Given the description of an element on the screen output the (x, y) to click on. 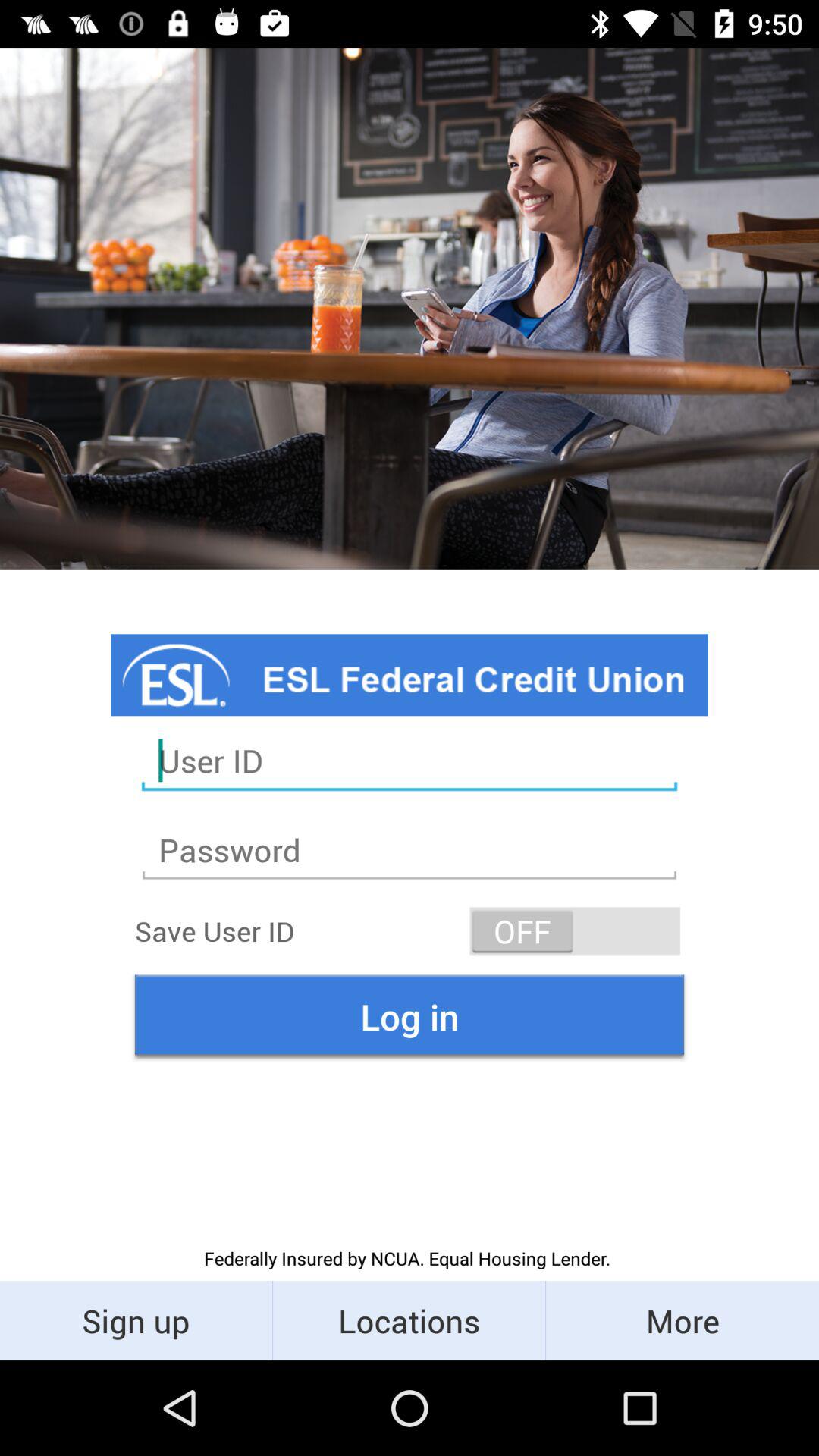
press the item above federally insured by icon (409, 1016)
